Given the description of an element on the screen output the (x, y) to click on. 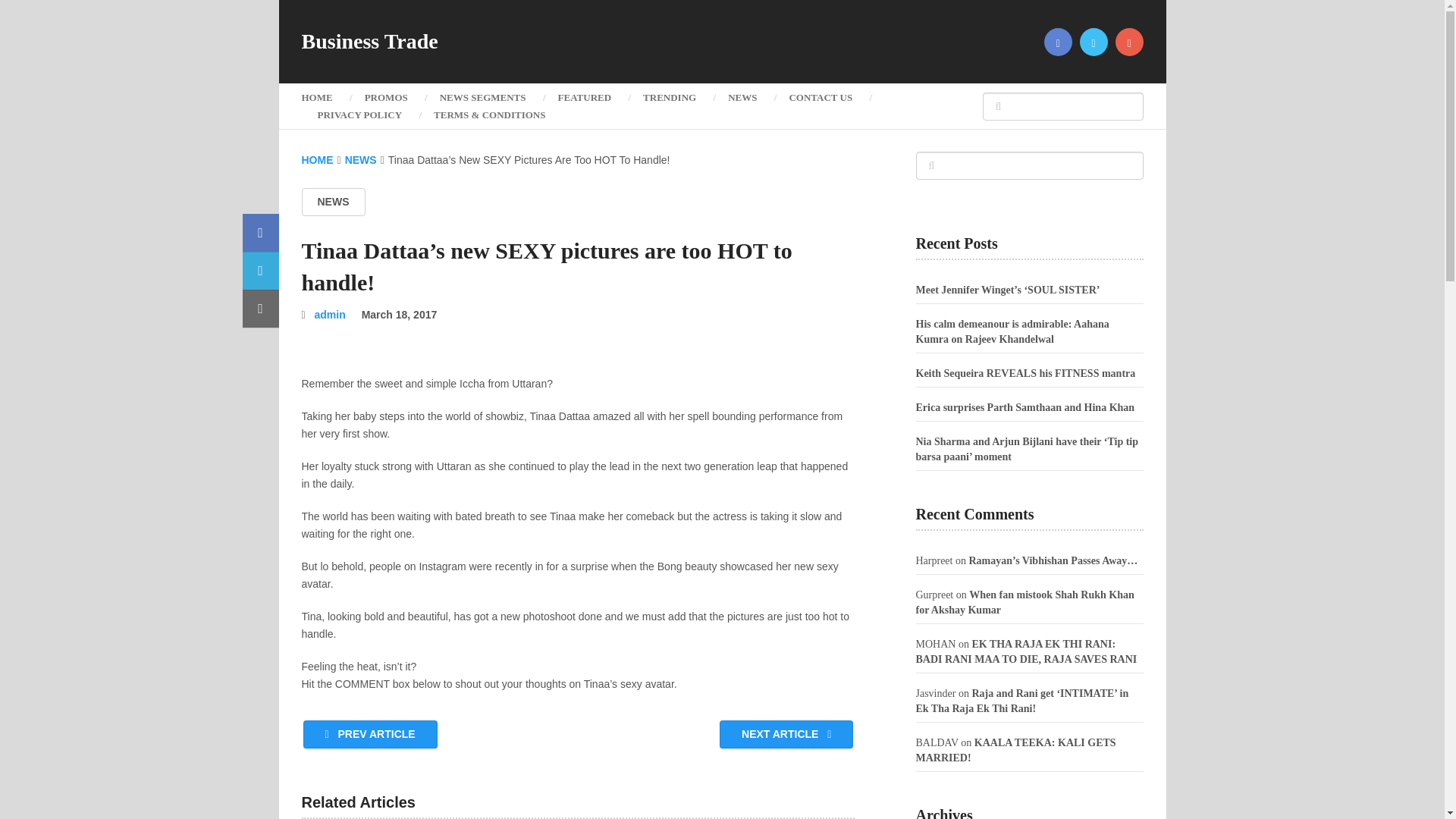
PREV ARTICLE (370, 734)
NEWS (333, 202)
PRIVACY POLICY (360, 114)
KAALA TEEKA: KALI GETS MARRIED! (1015, 750)
NEWS (361, 159)
admin (330, 314)
FEATURED (584, 97)
Business Trade (369, 41)
TRENDING (669, 97)
Posts by admin (330, 314)
NEWS (742, 97)
HOME (317, 159)
Keith Sequeira REVEALS his FITNESS mantra (1025, 373)
View all posts in News (333, 202)
